Given the description of an element on the screen output the (x, y) to click on. 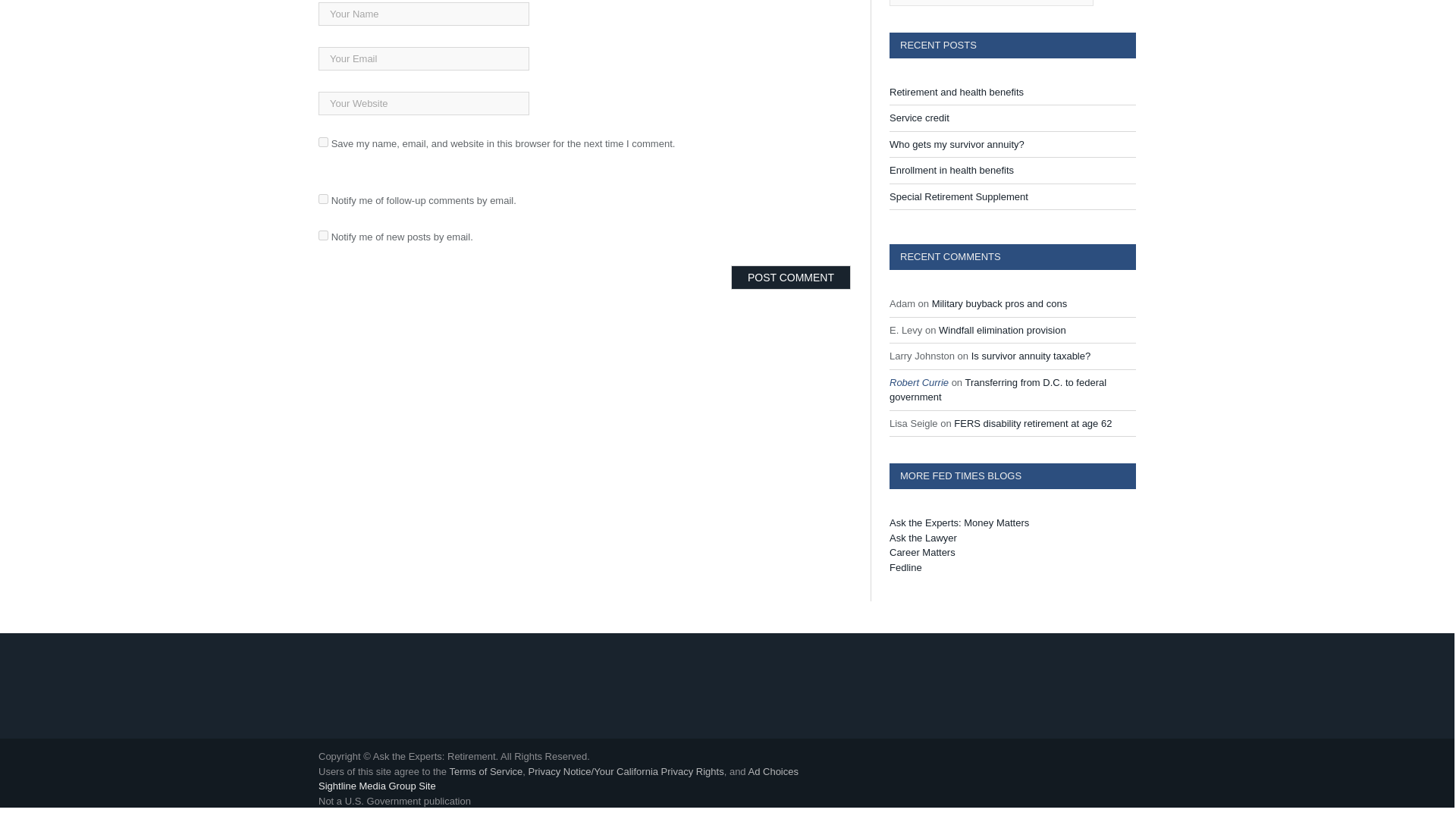
Post Comment (790, 277)
yes (323, 142)
subscribe (323, 198)
subscribe (323, 235)
